Given the description of an element on the screen output the (x, y) to click on. 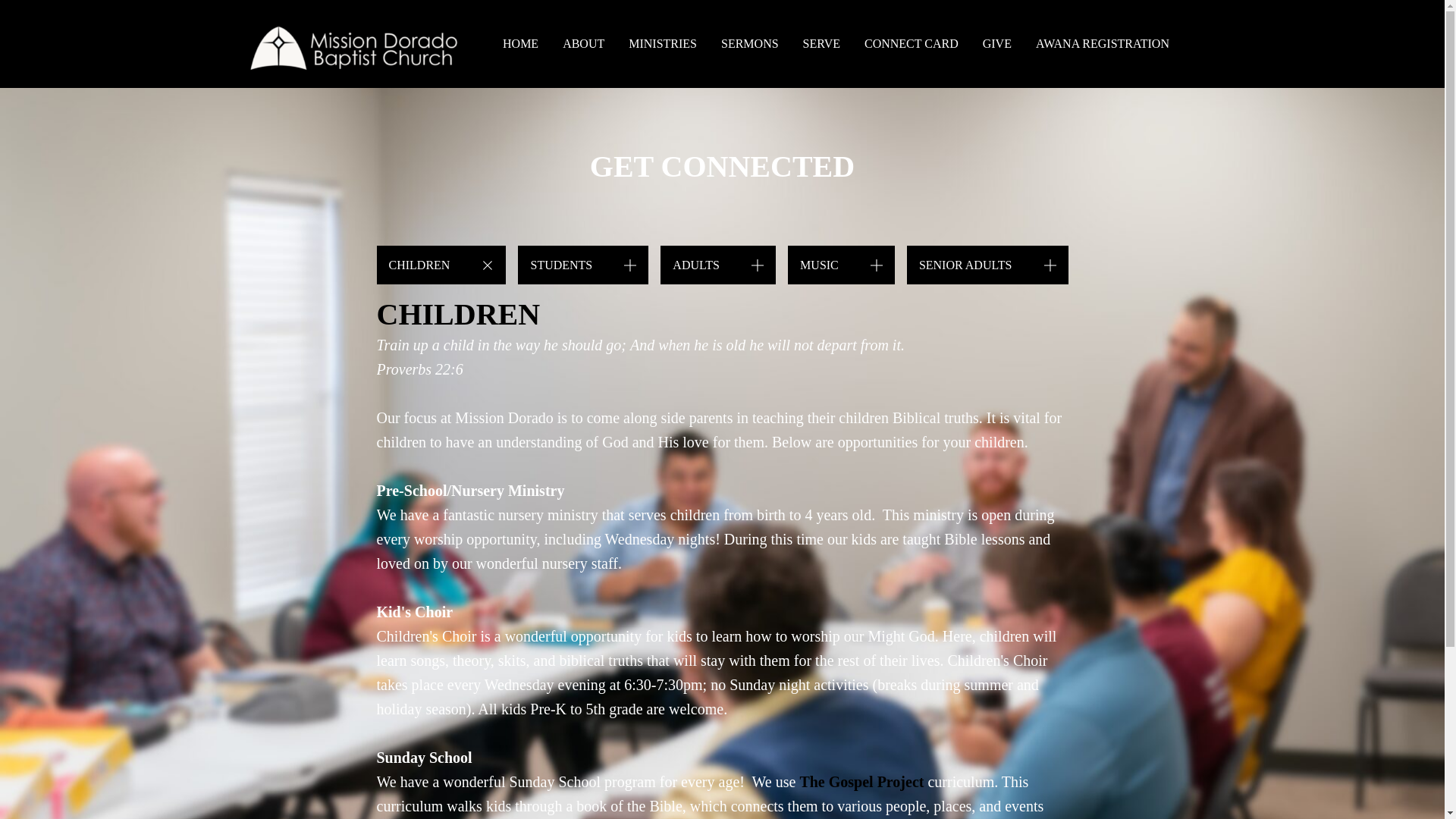
The Gospel Project (861, 781)
MINISTRIES (662, 43)
AWANA REGISTRATION (1102, 43)
ABOUT (583, 43)
HOME (520, 43)
SERMONS (749, 43)
CHILDREN (440, 264)
CONNECT CARD (911, 43)
SENIOR ADULTS (987, 264)
STUDENTS (582, 264)
ADULTS (718, 264)
SERVE (821, 43)
MUSIC (841, 264)
